Given the description of an element on the screen output the (x, y) to click on. 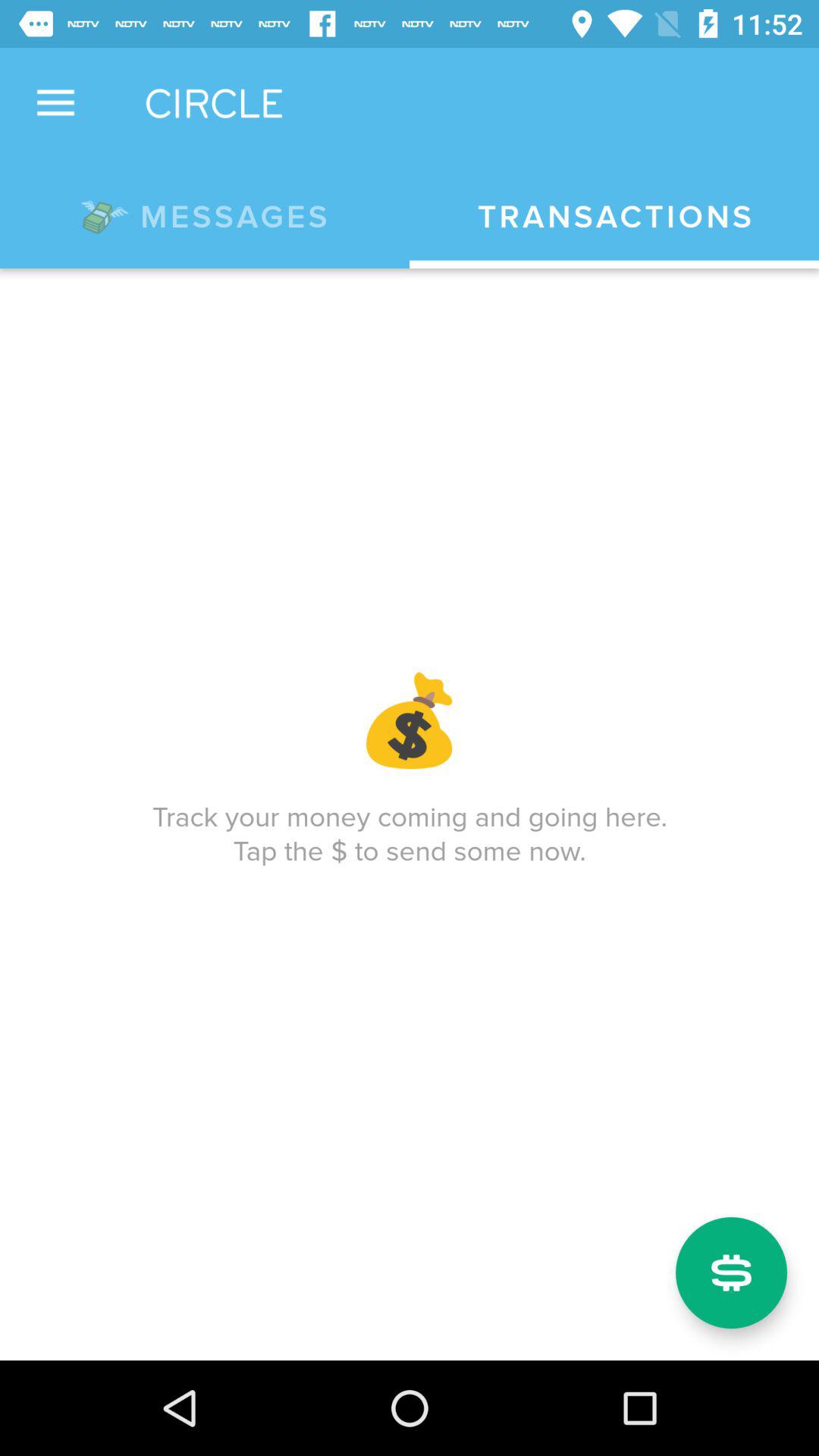
tap the app next to the transactions icon (204, 213)
